Given the description of an element on the screen output the (x, y) to click on. 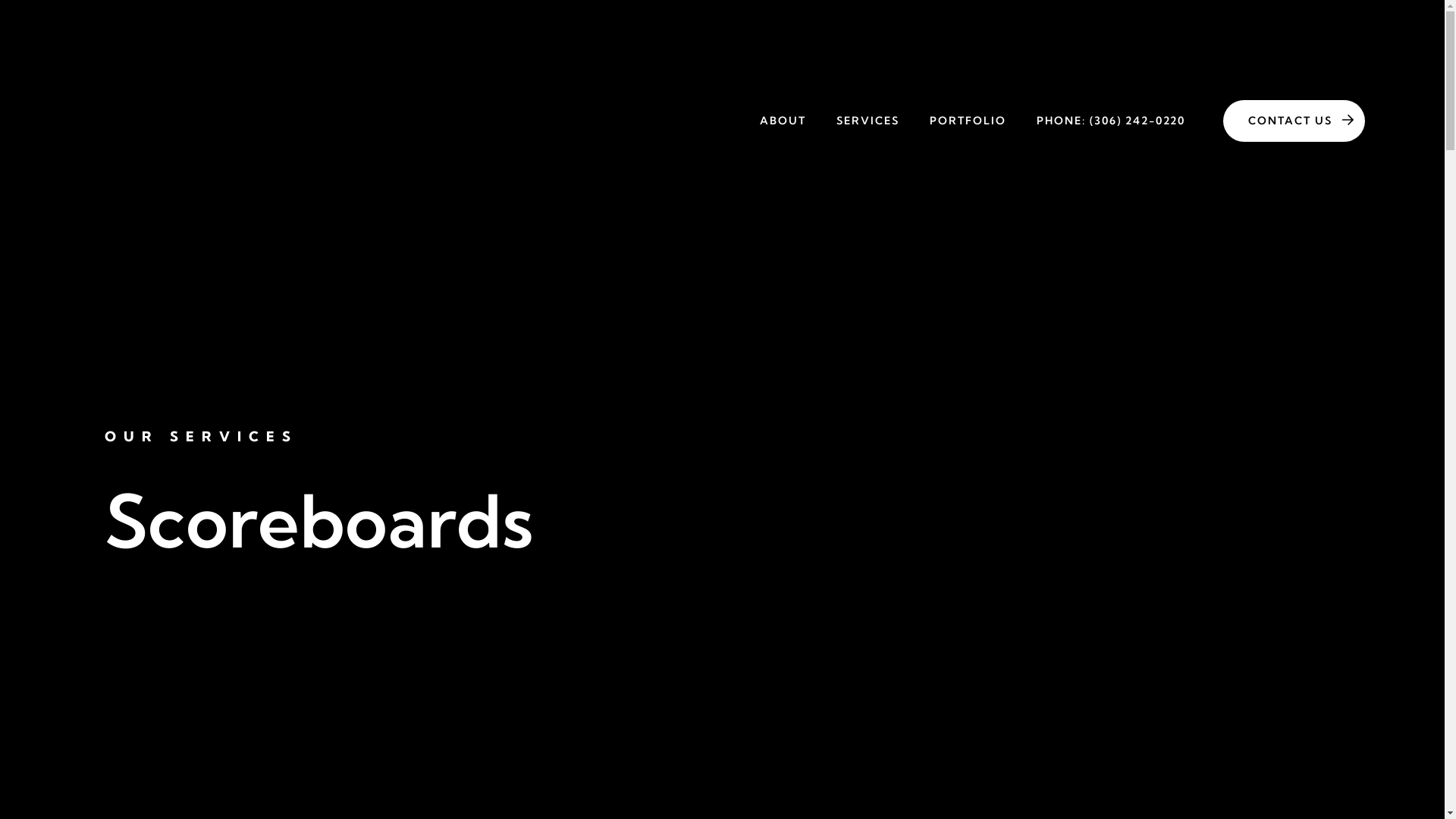
PHONE: (306) 242-0220 Element type: text (1110, 120)
CONTACT US Element type: text (1294, 120)
ABOUT Element type: text (782, 120)
PORTFOLIO Element type: text (967, 120)
SERVICES Element type: text (867, 120)
